Given the description of an element on the screen output the (x, y) to click on. 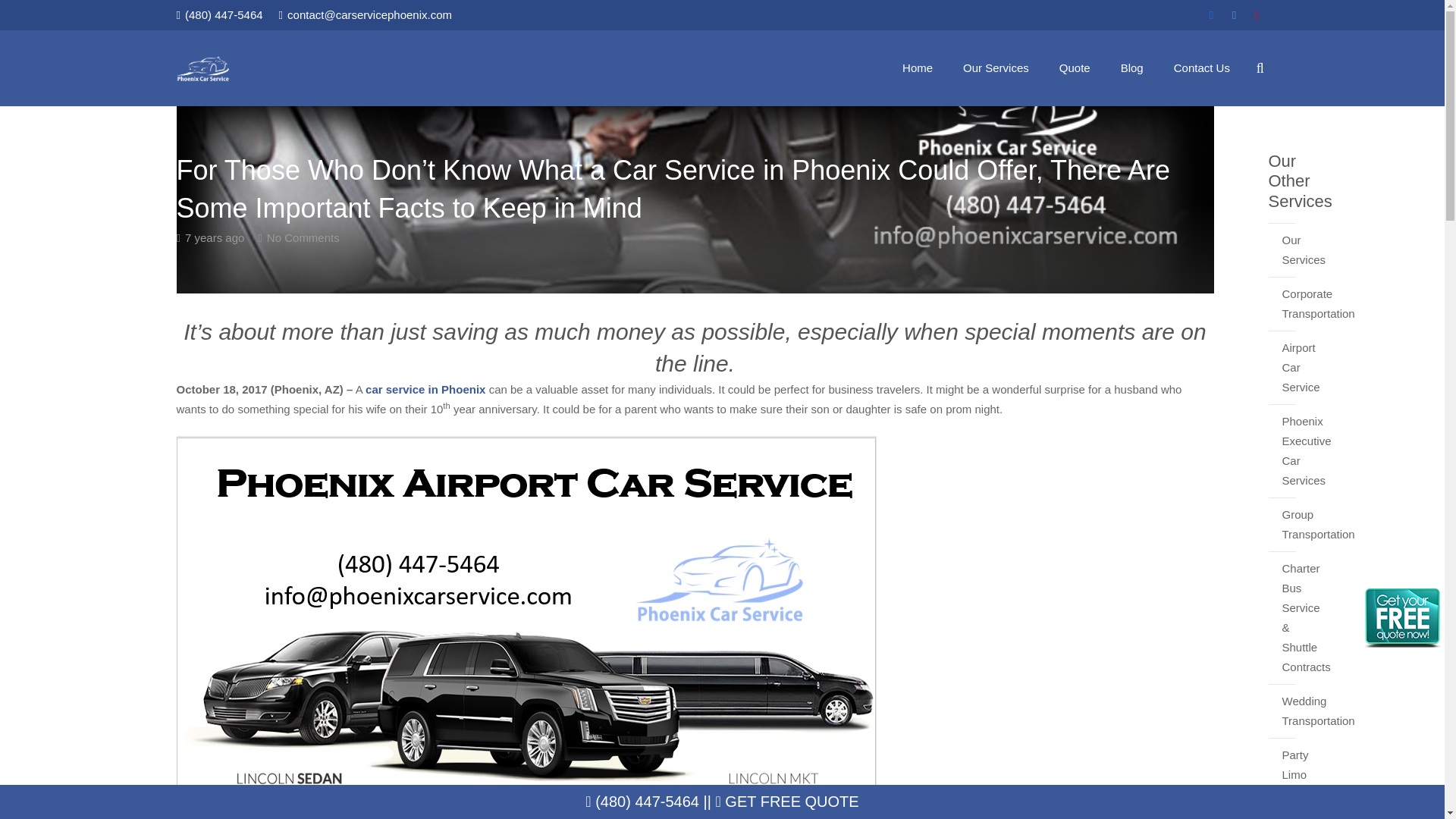
Blog (1131, 68)
car service in Phoenix (424, 389)
Airport Car Service (1281, 367)
Phoenix Executive Car Services (1281, 450)
No Comments (302, 237)
Home (916, 68)
Our Services (995, 68)
Our Services (1281, 249)
No Comments (302, 237)
YouTube (1257, 15)
Corporate Transportation (1281, 303)
Group Transportation (1281, 524)
Quote (1074, 68)
Facebook (1211, 15)
Contact Us (1201, 68)
